Given the description of an element on the screen output the (x, y) to click on. 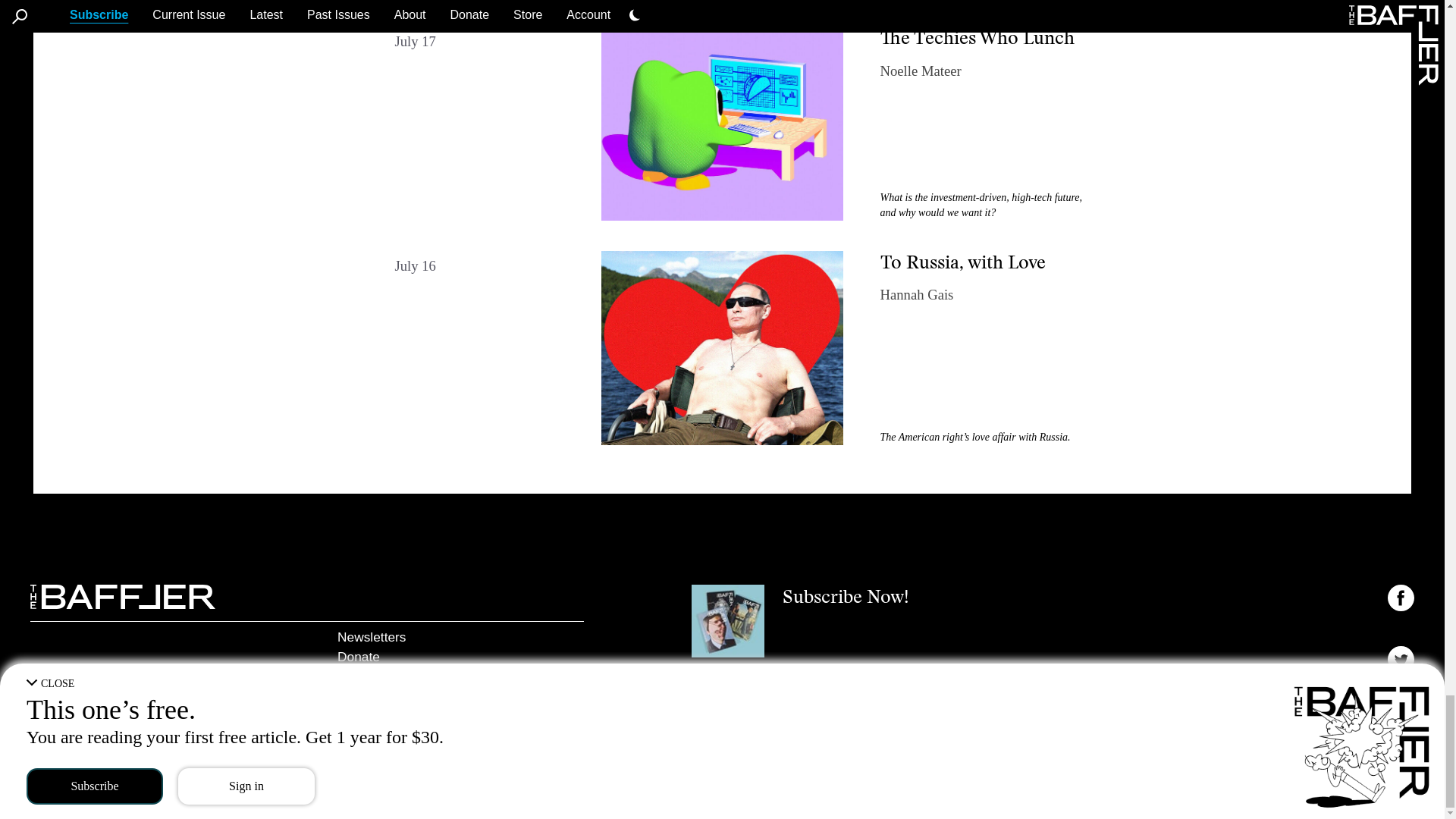
on (1395, 717)
